Given the description of an element on the screen output the (x, y) to click on. 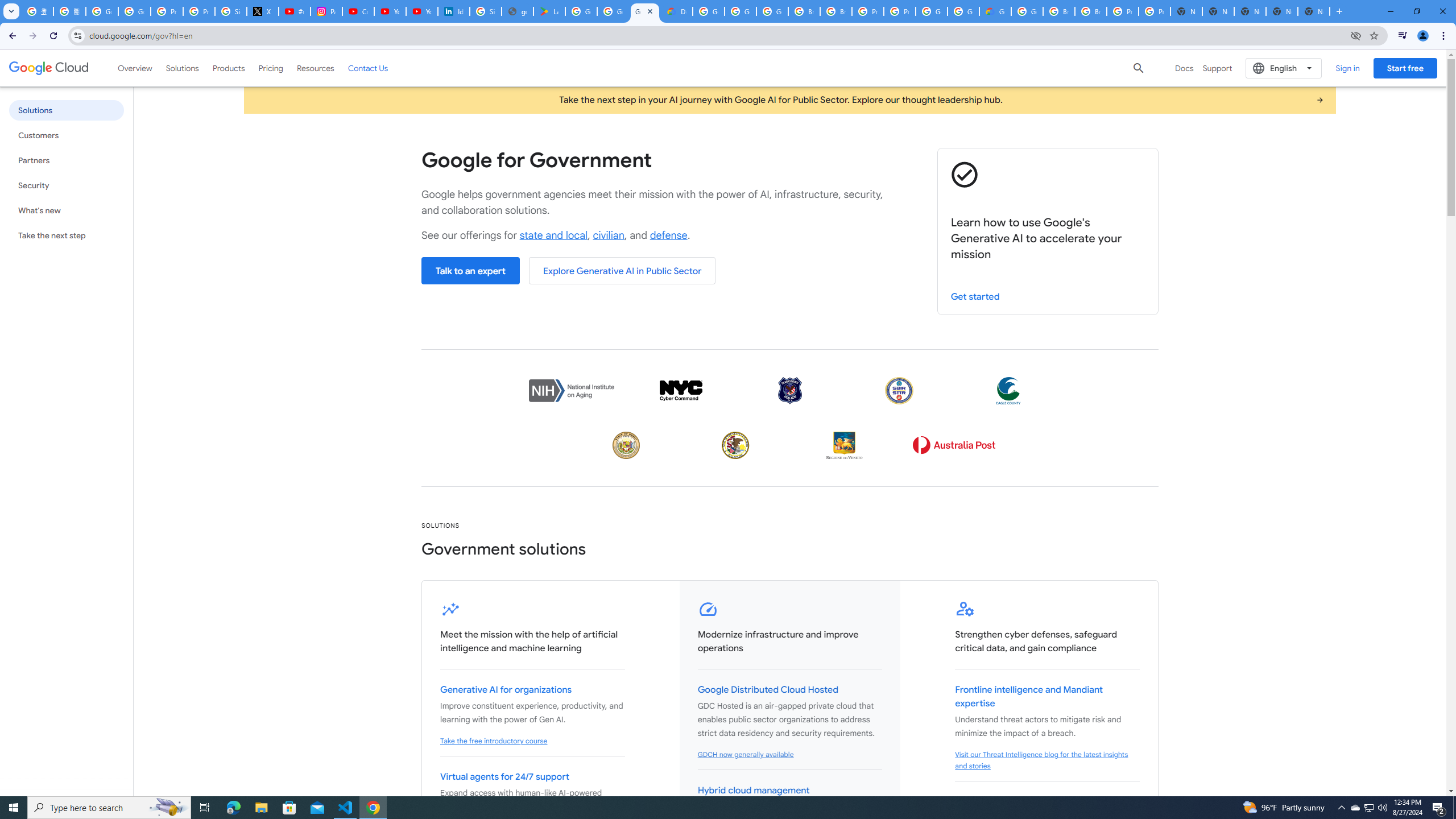
Google Cloud Platform (1027, 11)
NIA (571, 390)
